Given the description of an element on the screen output the (x, y) to click on. 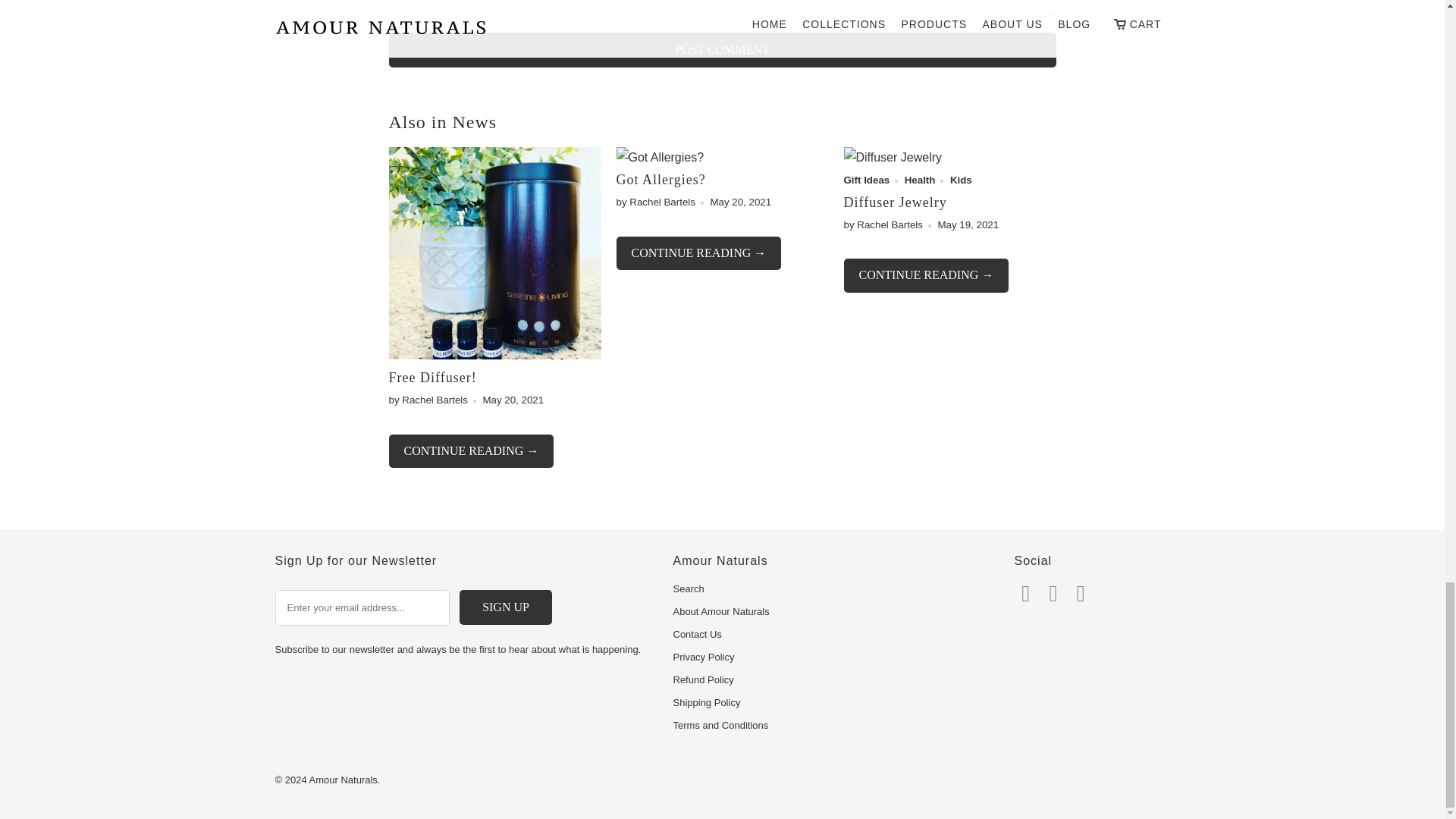
Gift Ideas (866, 179)
Search (688, 588)
Post comment (721, 49)
Post comment (721, 49)
Sign Up (505, 606)
Health (920, 179)
Free Diffuser! (432, 377)
Free Diffuser! (432, 377)
Free Diffuser! (470, 451)
Diffuser Jewelry (894, 201)
